Given the description of an element on the screen output the (x, y) to click on. 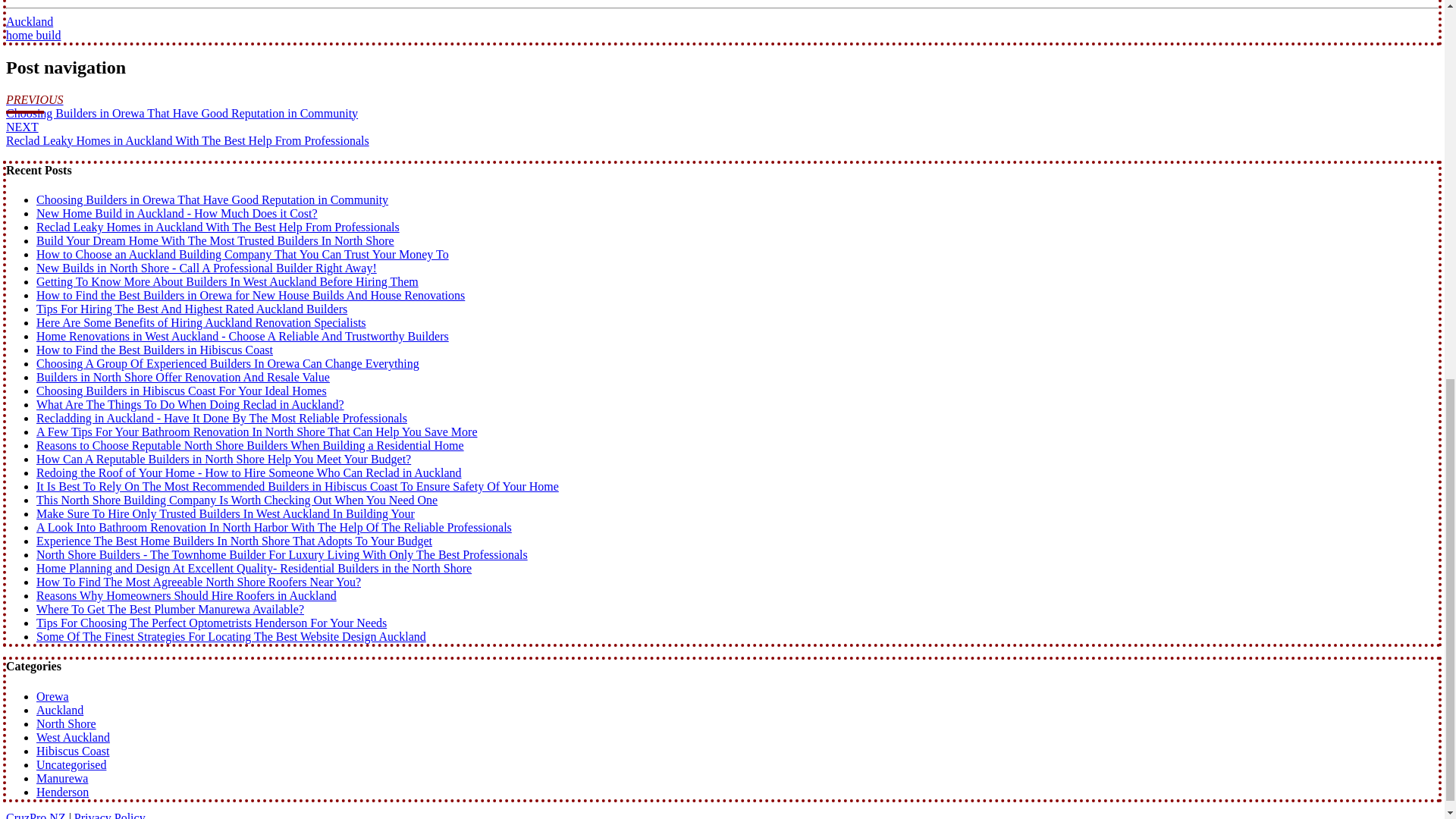
Tips For Hiring The Best And Highest Rated Auckland Builders (191, 308)
How to Find the Best Builders in Hibiscus Coast (154, 349)
Where To Get The Best Plumber Manurewa Available? (170, 608)
What Are The Things To Do When Doing Reclad in Auckland? (189, 404)
Choosing Builders in Hibiscus Coast For Your Ideal Homes (181, 390)
home build (33, 34)
